Given the description of an element on the screen output the (x, y) to click on. 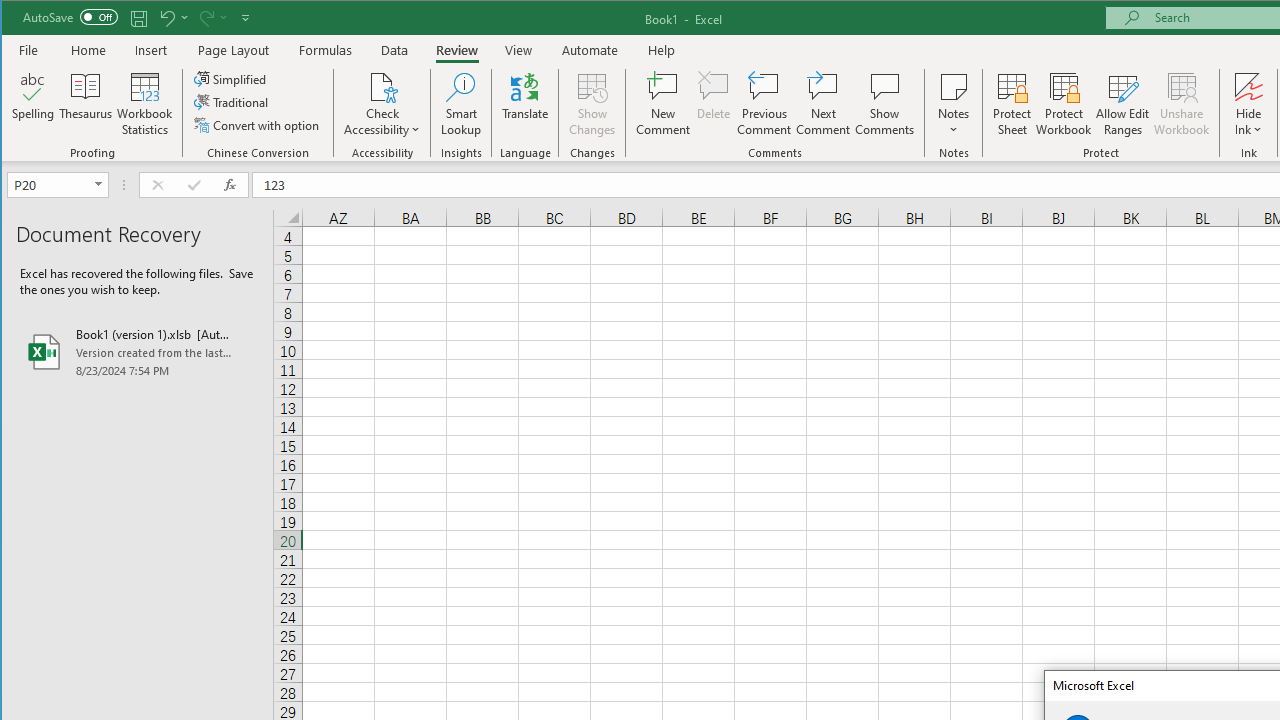
Thesaurus... (86, 104)
Show Comments (884, 104)
Previous Comment (763, 104)
Hide Ink (1248, 104)
